Given the description of an element on the screen output the (x, y) to click on. 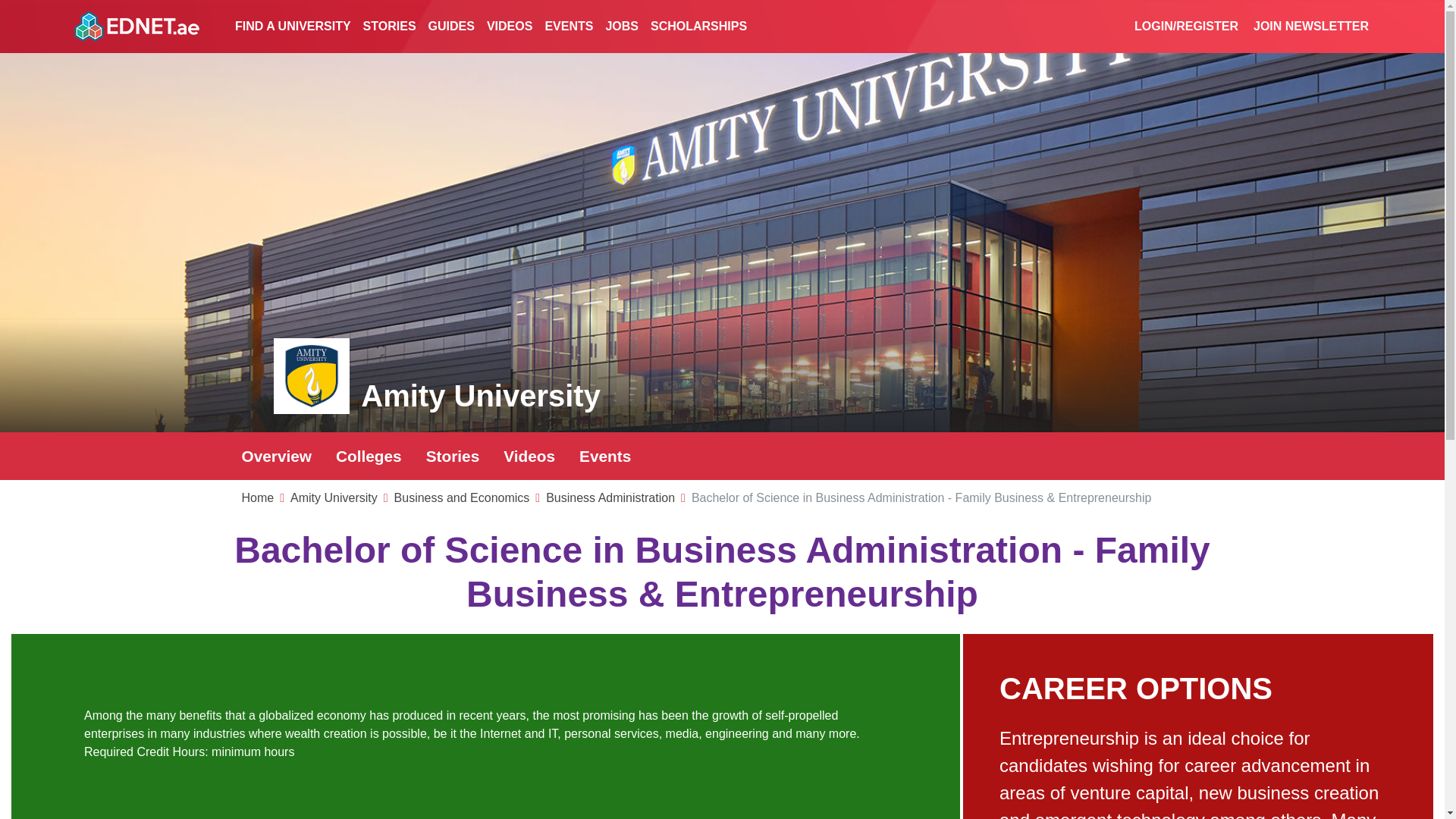
JOIN NEWSLETTER (1310, 26)
SCHOLARSHIPS (698, 26)
Business and Economics (461, 497)
VIDEOS (509, 26)
Videos (529, 456)
Events (605, 456)
EVENTS (568, 26)
STORIES (389, 26)
JOBS (621, 26)
GUIDES (451, 26)
